Given the description of an element on the screen output the (x, y) to click on. 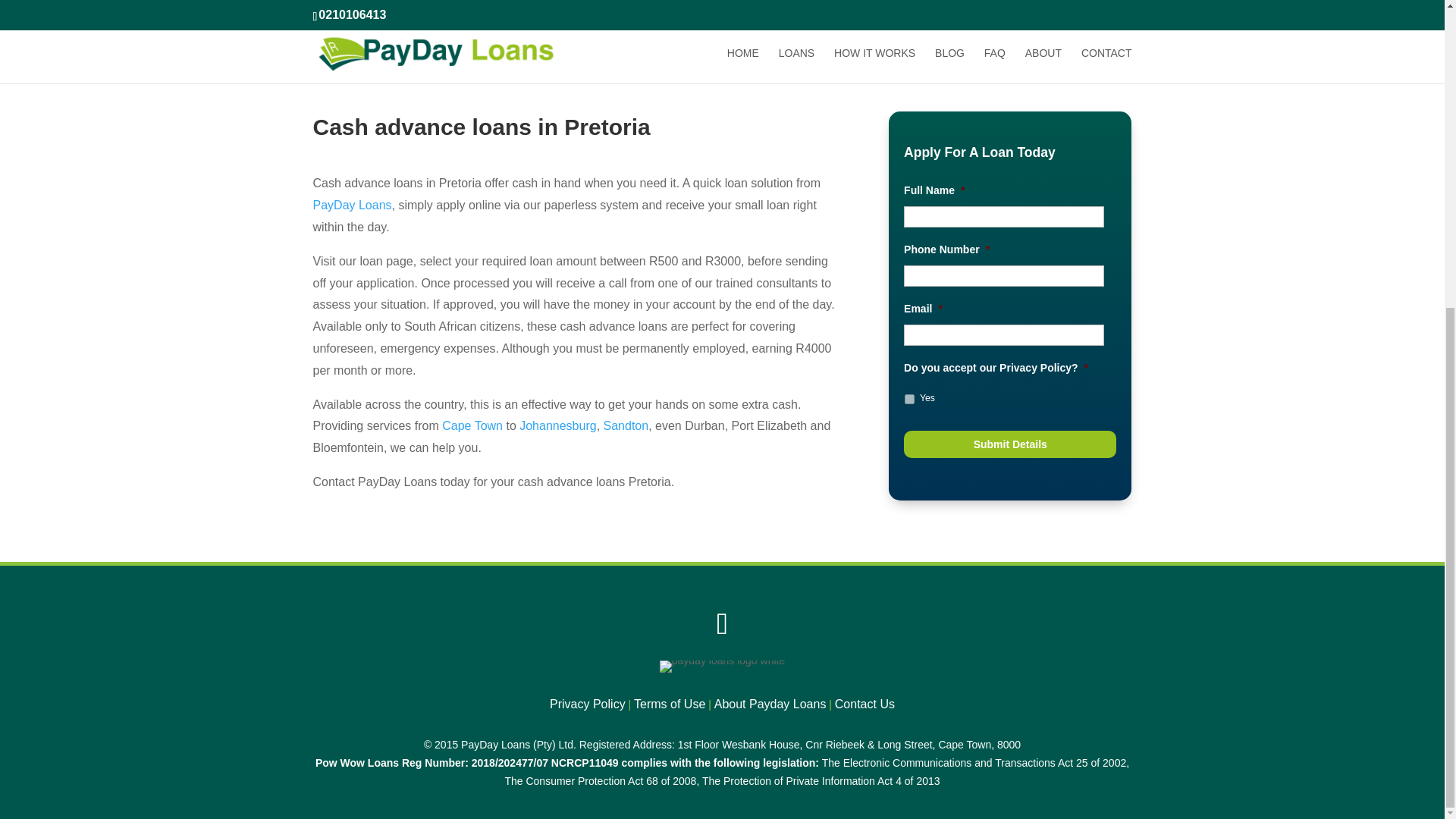
Follow on Facebook (721, 623)
Terms of Use (668, 703)
Submit Details (1010, 443)
Cape Town (472, 425)
Privacy Policy (588, 703)
Yes (909, 398)
Sandton (626, 425)
About Payday Loans (770, 703)
Johannesburg (557, 425)
Contact Us (864, 703)
